Given the description of an element on the screen output the (x, y) to click on. 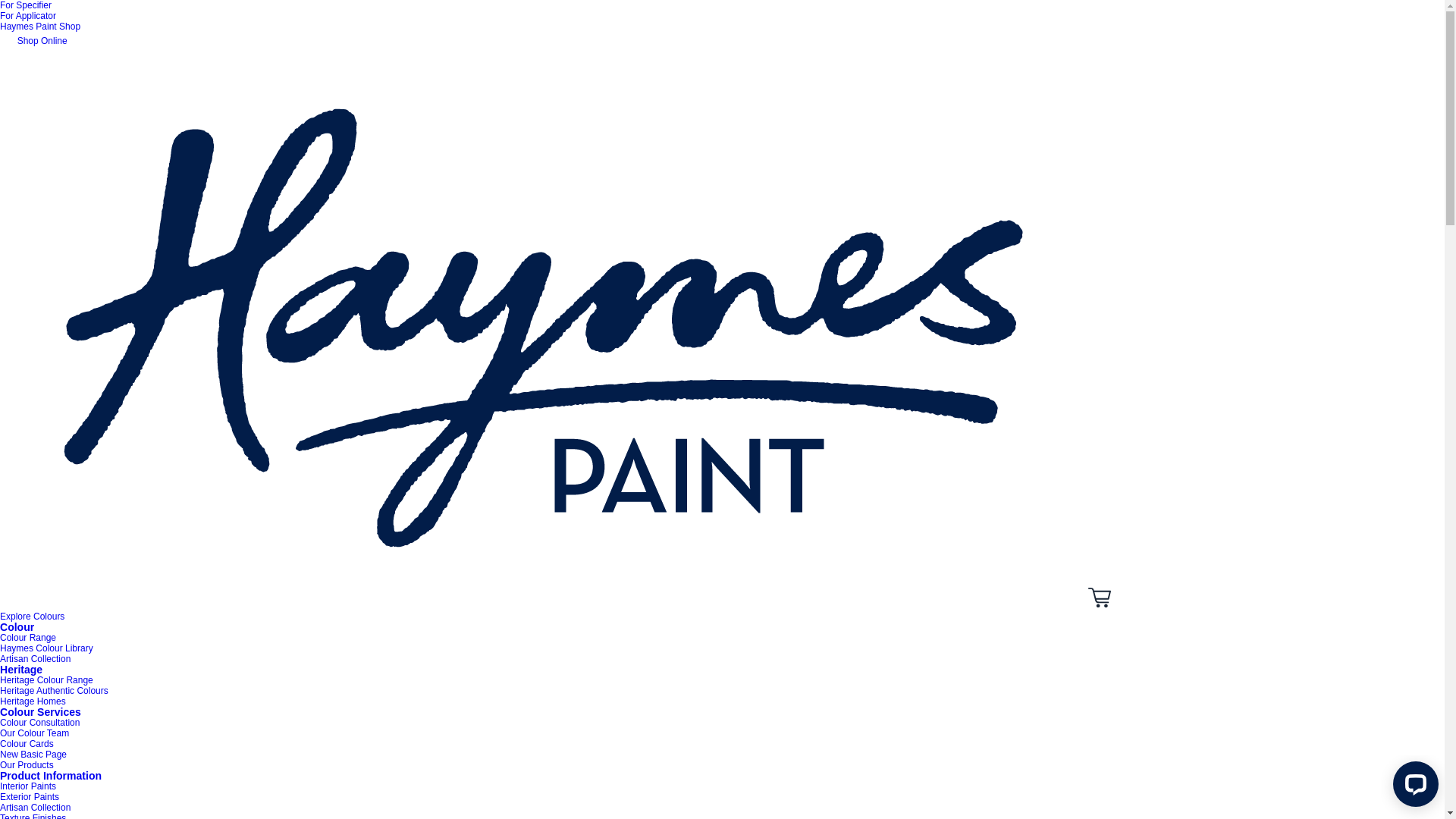
Our Colour Team Element type: text (34, 733)
  Shop Online Element type: text (33, 40)
Exterior Paints Element type: text (29, 796)
Heritage Colour Range Element type: text (46, 679)
For Specifier Element type: text (25, 5)
Colour Cards Element type: text (26, 743)
Colour Element type: text (17, 627)
Haymes Paint Shop Element type: text (40, 26)
Artisan Collection Element type: text (35, 807)
Colour Consultation Element type: text (39, 722)
Product Information Element type: text (50, 775)
Our Products Element type: text (26, 764)
Explore Colours Element type: text (32, 616)
For Applicator Element type: text (28, 15)
Interior Paints Element type: text (28, 786)
Haymes Colour Library Element type: text (46, 648)
Heritage Element type: text (21, 669)
New Basic Page Element type: text (33, 754)
Artisan Collection Element type: text (35, 658)
Colour Range Element type: text (28, 637)
Heritage Authentic Colours Element type: text (54, 690)
Heritage Homes Element type: text (32, 701)
Colour Services Element type: text (40, 712)
